Given the description of an element on the screen output the (x, y) to click on. 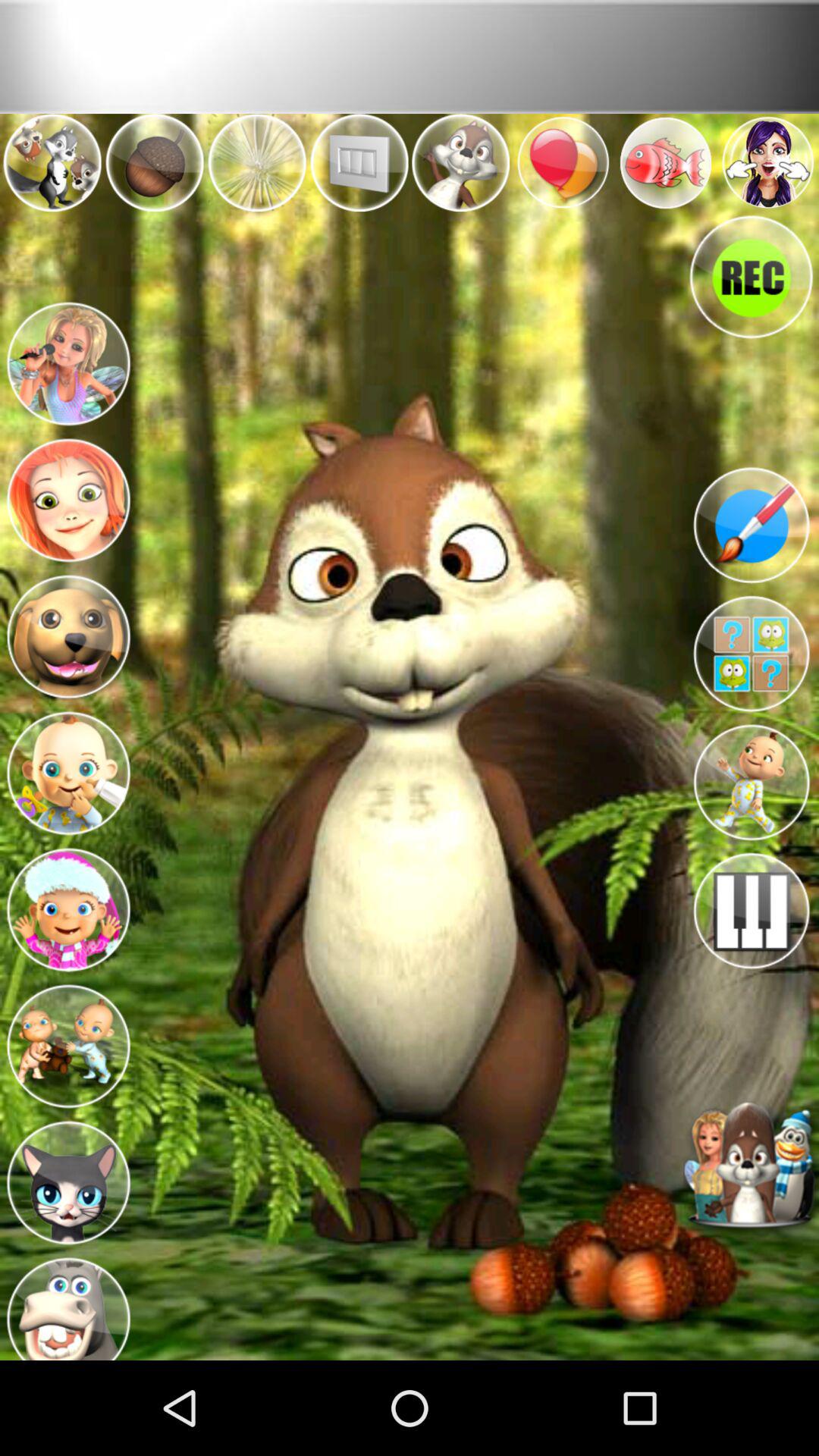
switch to toddler (751, 782)
